Given the description of an element on the screen output the (x, y) to click on. 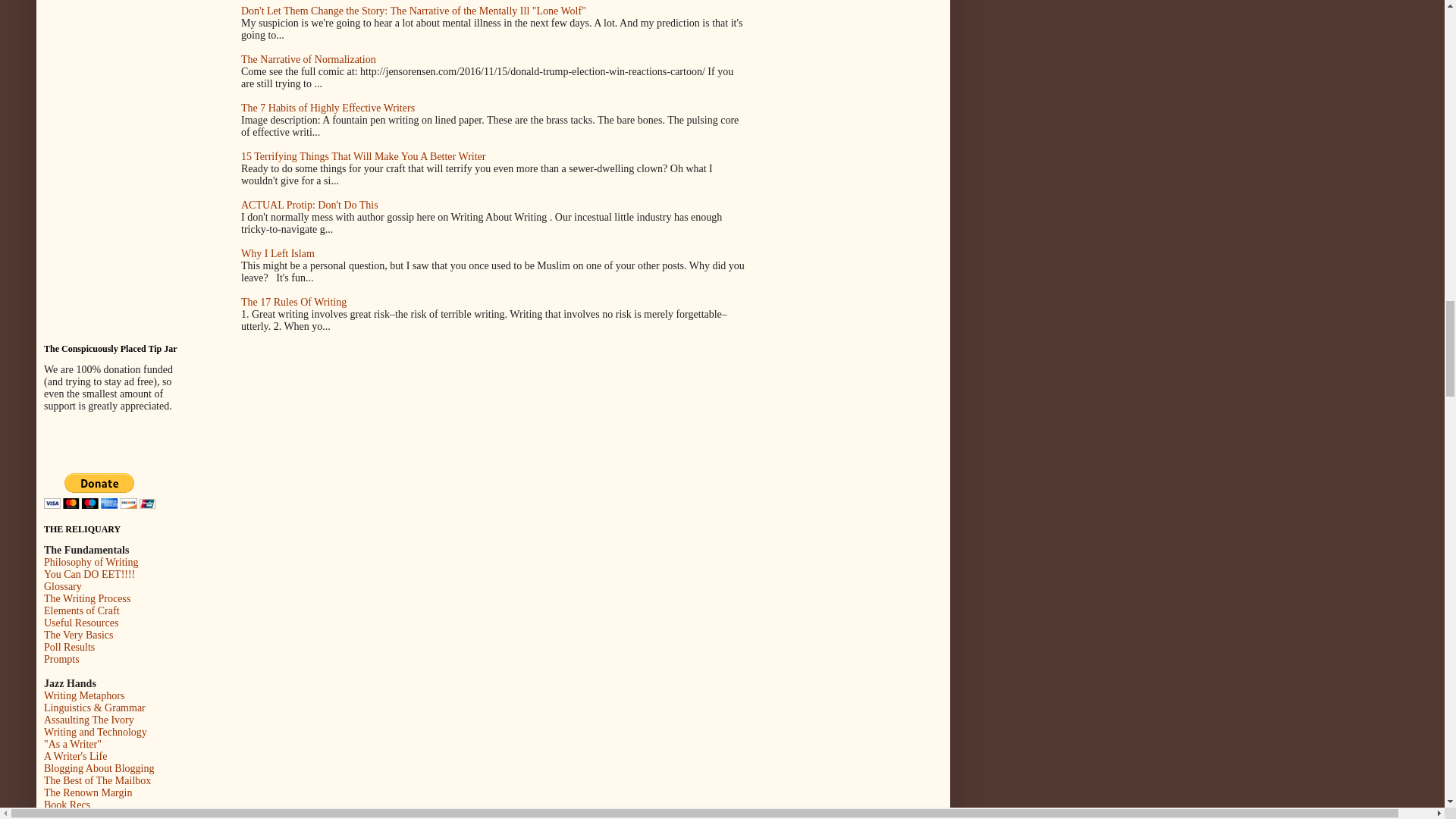
The Narrative of Normalization (308, 59)
